Given the description of an element on the screen output the (x, y) to click on. 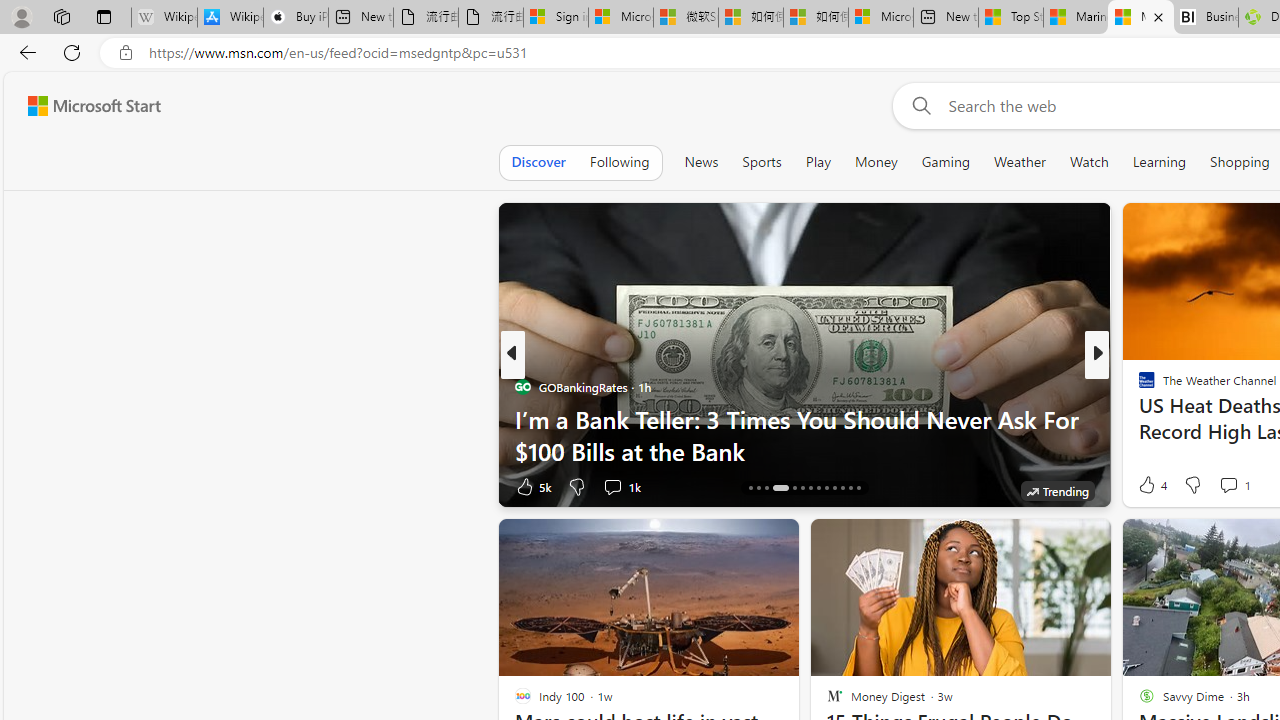
Shopping (1240, 161)
13 Like (1149, 486)
AutomationID: tab-18 (793, 487)
Sign in to your Microsoft account (555, 17)
Gaming (945, 161)
516 Like (1151, 486)
5k Like (532, 486)
Wikipedia - Sleeping (164, 17)
Learning (1159, 161)
View comments 53 Comment (1234, 485)
Play (818, 162)
